Given the description of an element on the screen output the (x, y) to click on. 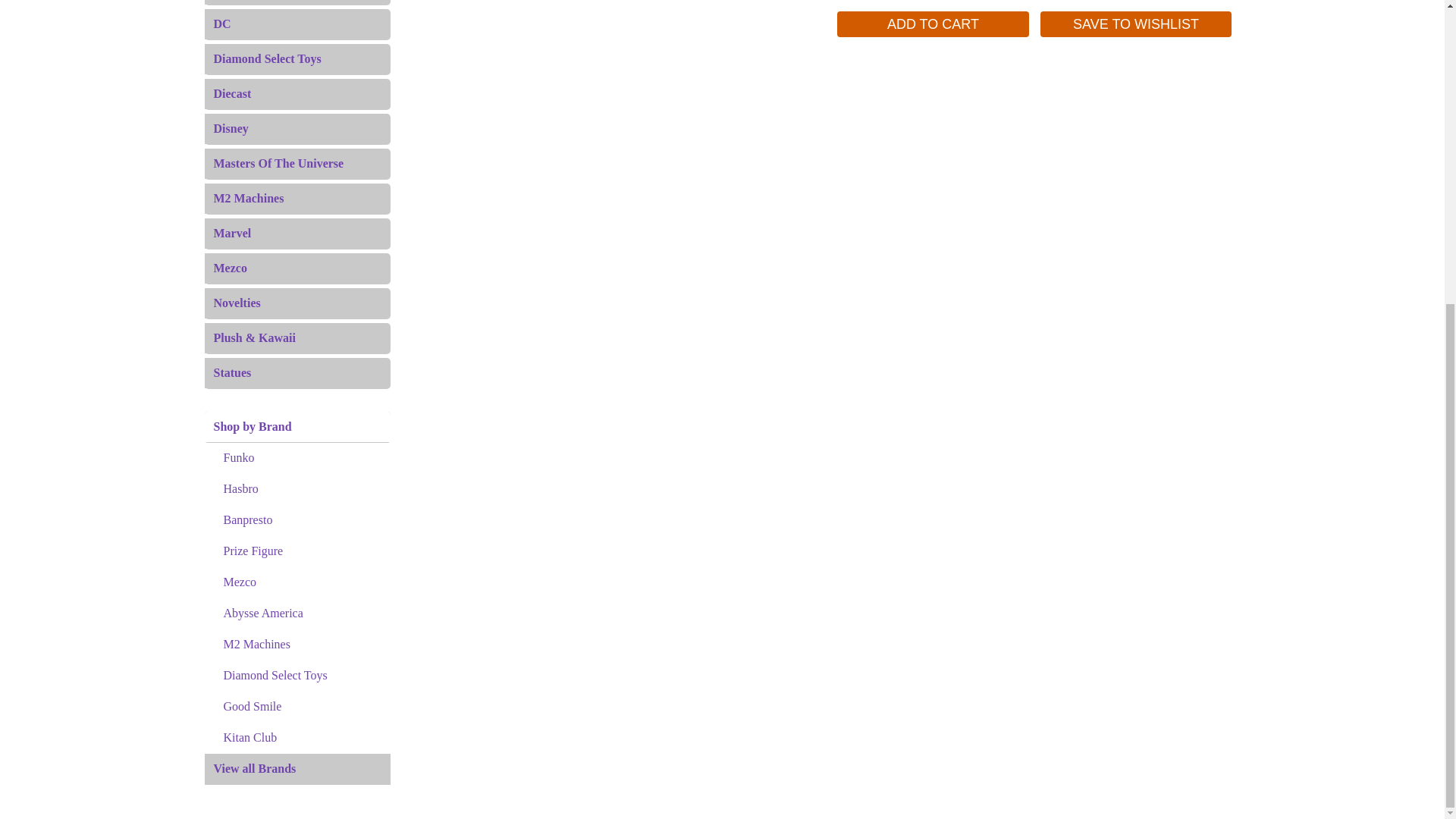
Add to Cart (933, 23)
